Given the description of an element on the screen output the (x, y) to click on. 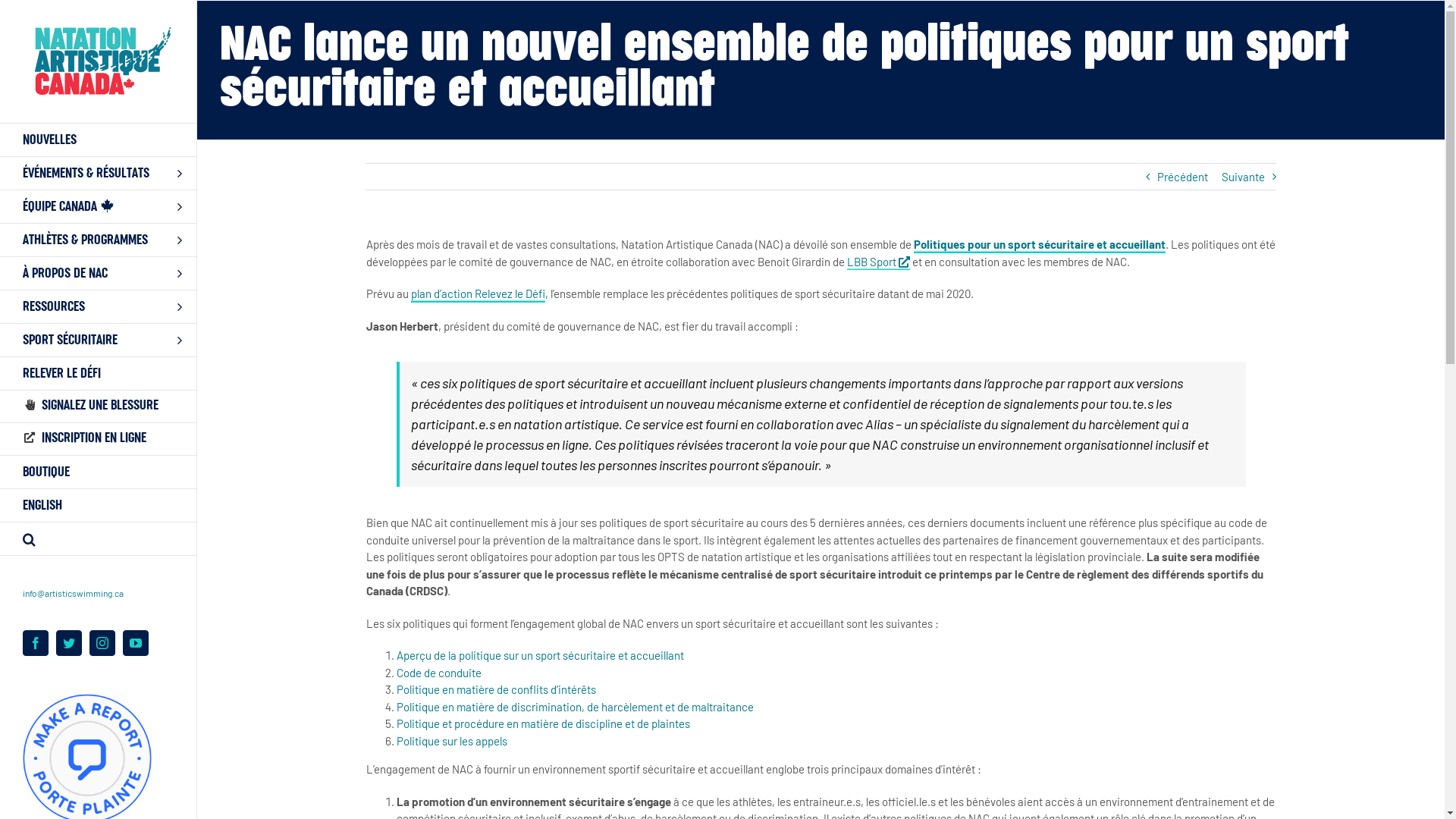
Politique sur les appels Element type: text (450, 740)
YouTube Element type: text (135, 642)
ENGLISH Element type: text (98, 505)
SIGNALEZ UNE BLESSURE Element type: text (98, 406)
info@artisticswimming.ca Element type: text (72, 592)
Instagram Element type: text (102, 642)
NOUVELLES Element type: text (98, 139)
Twitter Element type: text (68, 642)
LBB Sport Element type: text (877, 261)
Search Element type: hover (98, 538)
BOUTIQUE Element type: text (98, 472)
INSCRIPTION EN LIGNE  Element type: text (98, 439)
Suivante Element type: text (1242, 176)
RESSOURCES Element type: text (98, 306)
Facebook Element type: text (35, 642)
Code de conduite Element type: text (437, 672)
